Given the description of an element on the screen output the (x, y) to click on. 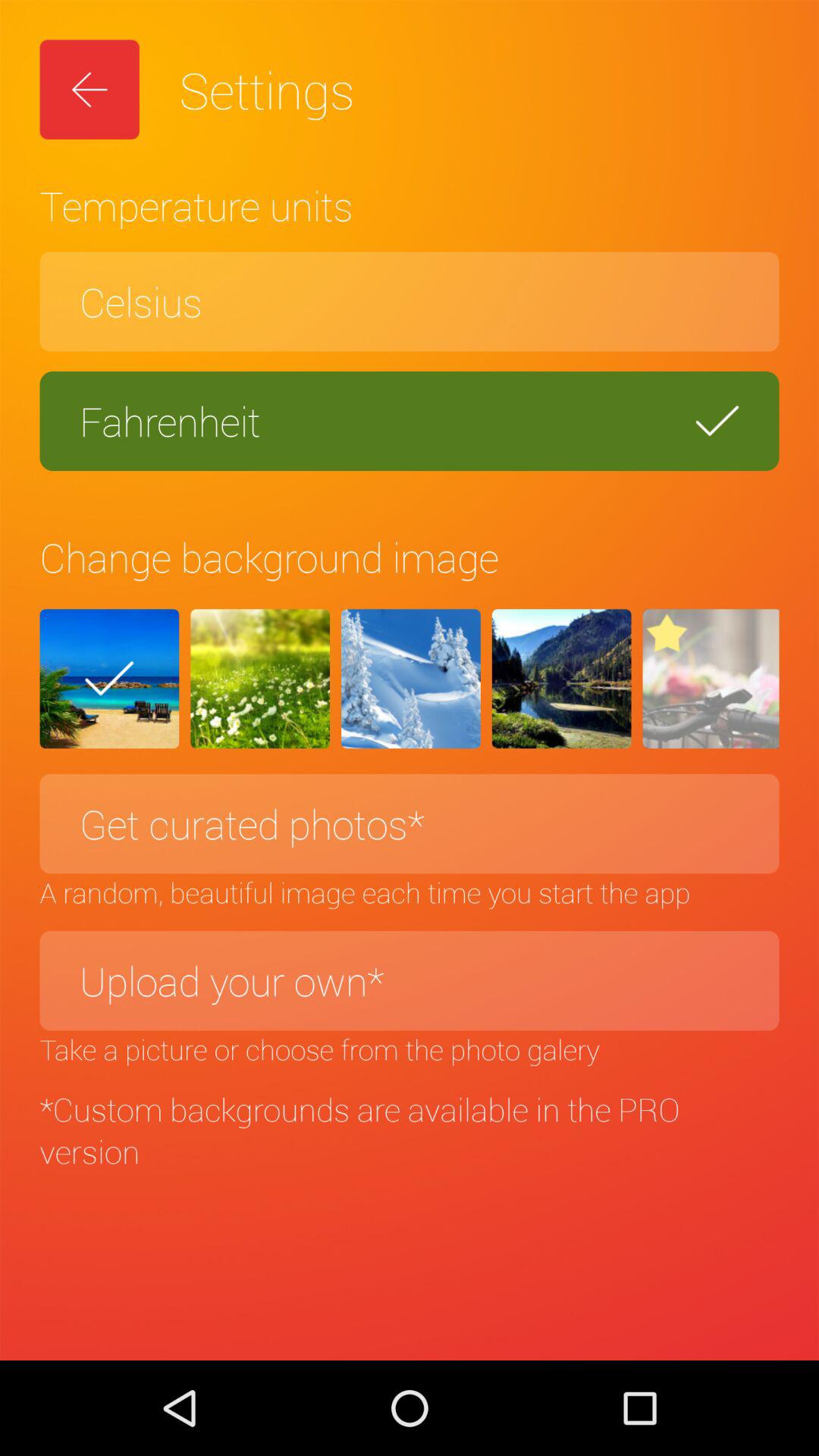
select icon below change background image icon (109, 678)
